Given the description of an element on the screen output the (x, y) to click on. 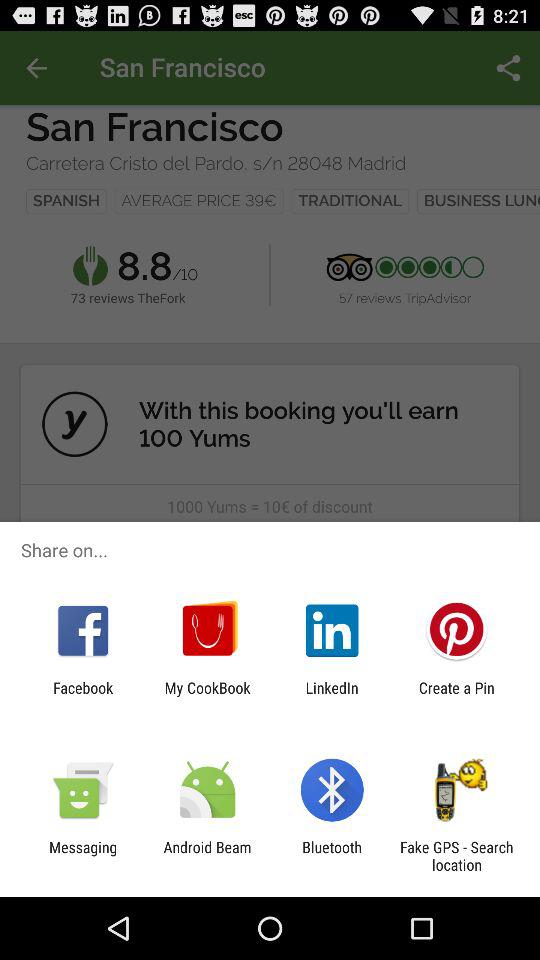
click the icon to the left of create a pin (331, 696)
